Given the description of an element on the screen output the (x, y) to click on. 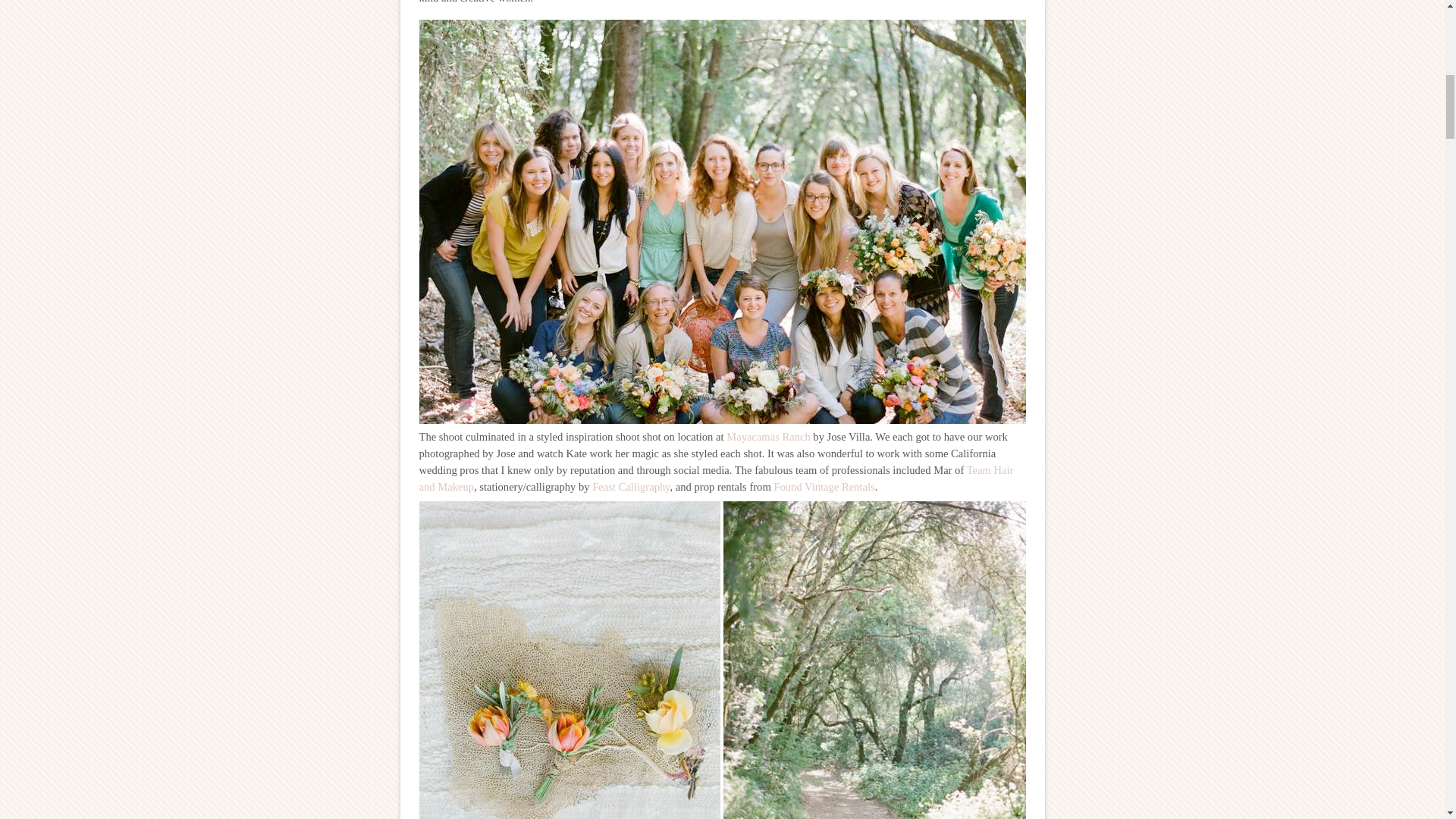
Team Hair and Makeup (716, 478)
Mayacamas Ranch Calistoga (768, 436)
Found Vintage Rentals (824, 486)
Mayacamas Ranch (768, 436)
Found Vintage Rentals (824, 486)
Feast Calligraphy (630, 486)
Feast Calligraphy (630, 486)
Santa Barbara Hair and Makeup (716, 478)
